Given the description of an element on the screen output the (x, y) to click on. 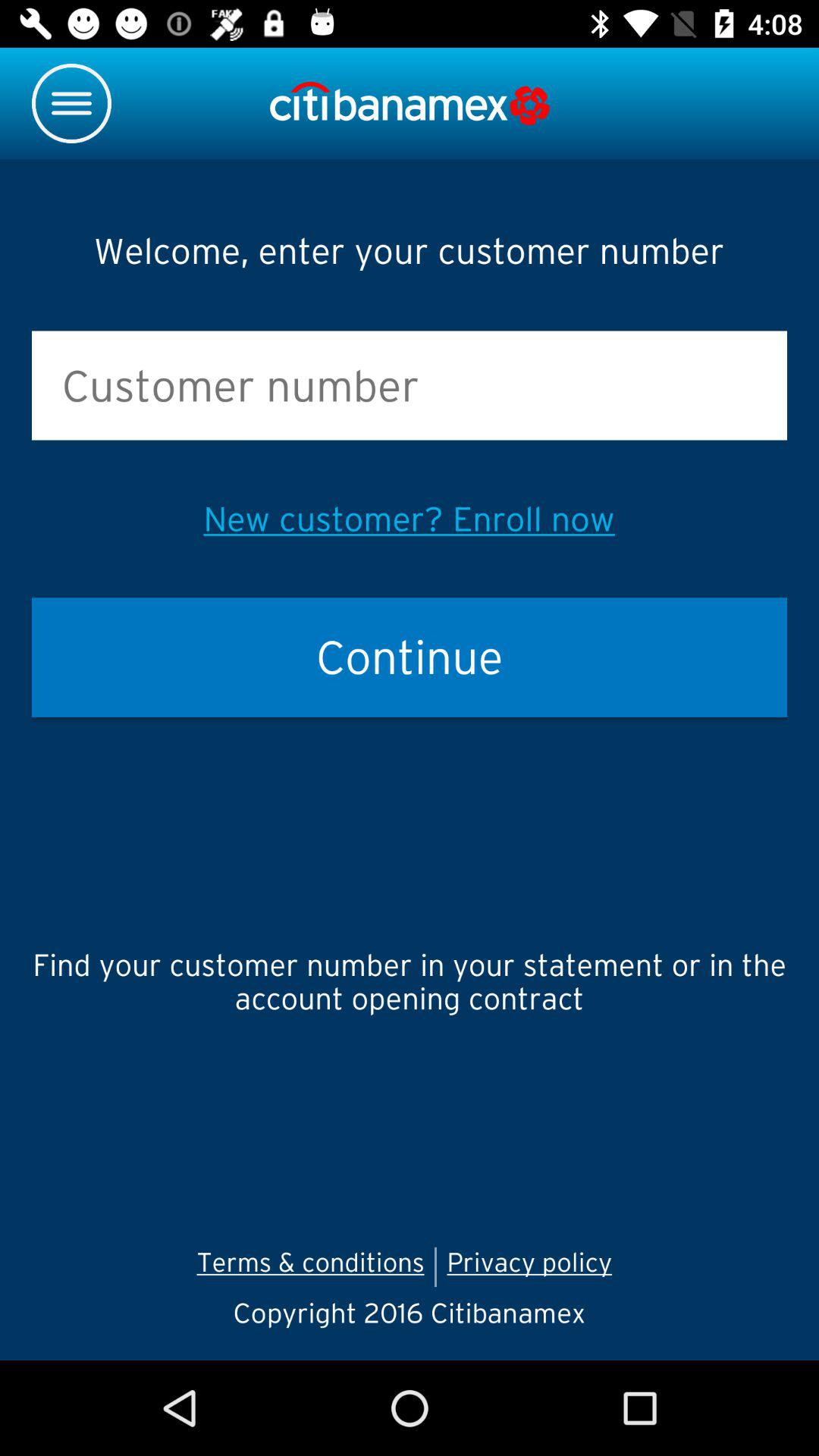
turn on the icon above the new customer enroll item (409, 385)
